Given the description of an element on the screen output the (x, y) to click on. 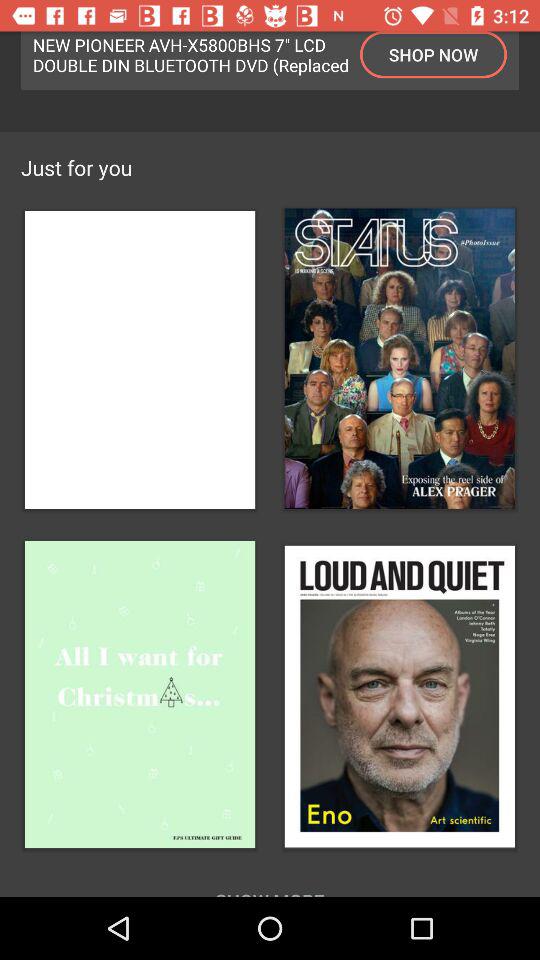
press icon at the top right corner (433, 54)
